Given the description of an element on the screen output the (x, y) to click on. 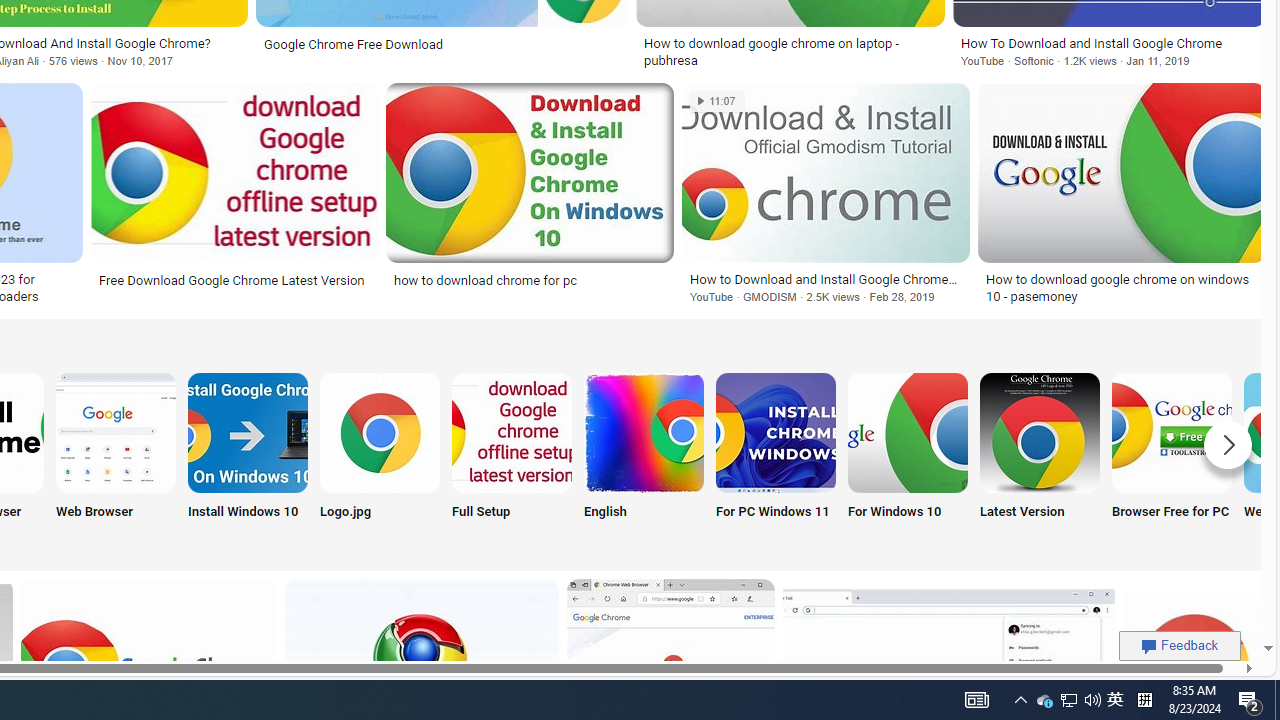
Download Google Chrome Latest Version Latest Version (1039, 458)
How to download google chrome on laptop - pubhresa (789, 52)
Google Chrome Logo Jpg Download Logo.jpg (380, 458)
Scroll more suggestions right (1227, 444)
How To Download and Install Google Chrome (1109, 43)
Full Setup (511, 457)
Browser Free for PC (1171, 457)
Web Browser (116, 457)
Google Chrome Download for PC Windows 11 For PC Windows 11 (775, 458)
Install Windows 10 (248, 457)
Download Google Chrome Full Setup (511, 432)
Download Google Chrome Full Setup Full Setup (511, 458)
